Given the description of an element on the screen output the (x, y) to click on. 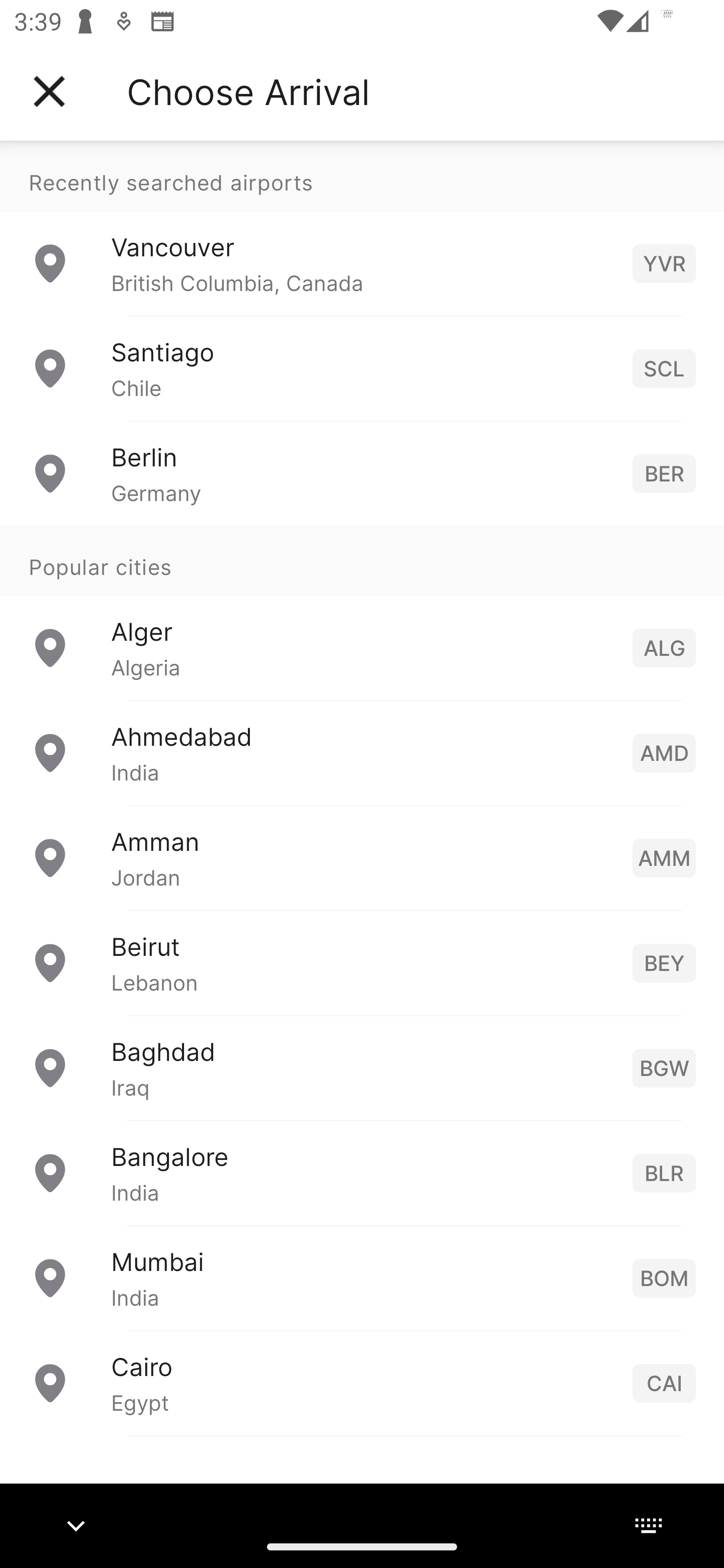
Choose Arrival (247, 91)
Recently searched airports (362, 176)
Santiago Chile SCL (362, 367)
Berlin Germany BER (362, 472)
Popular cities Alger Algeria ALG (362, 612)
Popular cities (362, 560)
Ahmedabad India AMD (362, 751)
Amman Jordan AMM (362, 856)
Beirut Lebanon BEY (362, 961)
Baghdad Iraq BGW (362, 1066)
Bangalore India BLR (362, 1171)
Mumbai India BOM (362, 1276)
Cairo Egypt CAI (362, 1381)
